Given the description of an element on the screen output the (x, y) to click on. 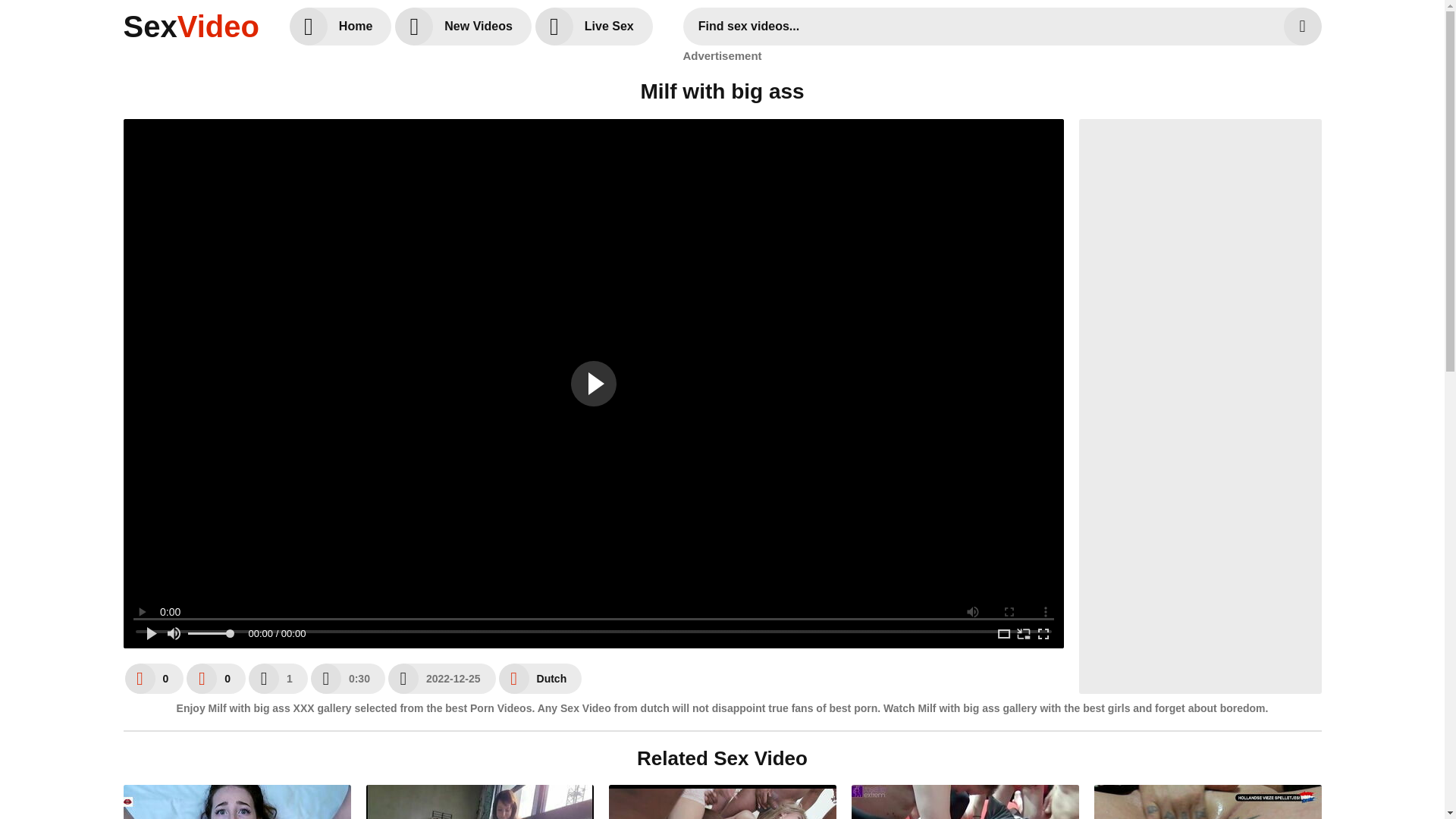
Live Sex (593, 26)
0 (153, 677)
Use Latin letters, digits, space, - (987, 26)
0 (216, 677)
Home (340, 26)
Cum GangBang with 2 Dutch Teens and a German Milf! Part 2 (964, 801)
New Videos (462, 26)
Dutch (540, 677)
Home (340, 26)
Search (1301, 26)
Live Sex (593, 26)
Don't Like It (216, 677)
